Given the description of an element on the screen output the (x, y) to click on. 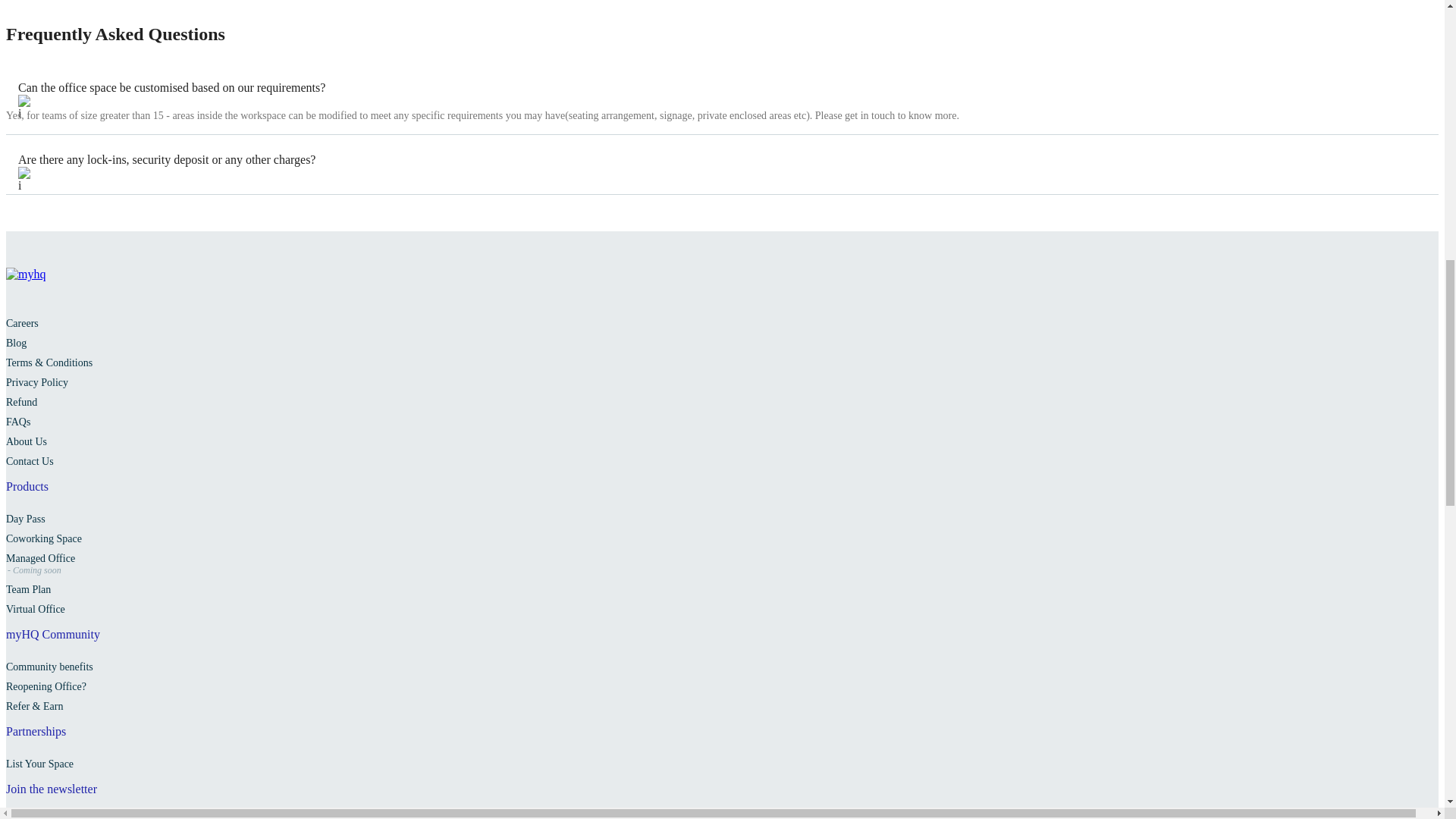
Coworking Space (43, 538)
Blog (15, 342)
About Us (25, 441)
Contact Us (29, 460)
Managed Office (40, 558)
Careers (22, 323)
List Your Space (39, 763)
Community benefits (49, 666)
Reopening Office? (45, 686)
Virtual Office (35, 609)
